Given the description of an element on the screen output the (x, y) to click on. 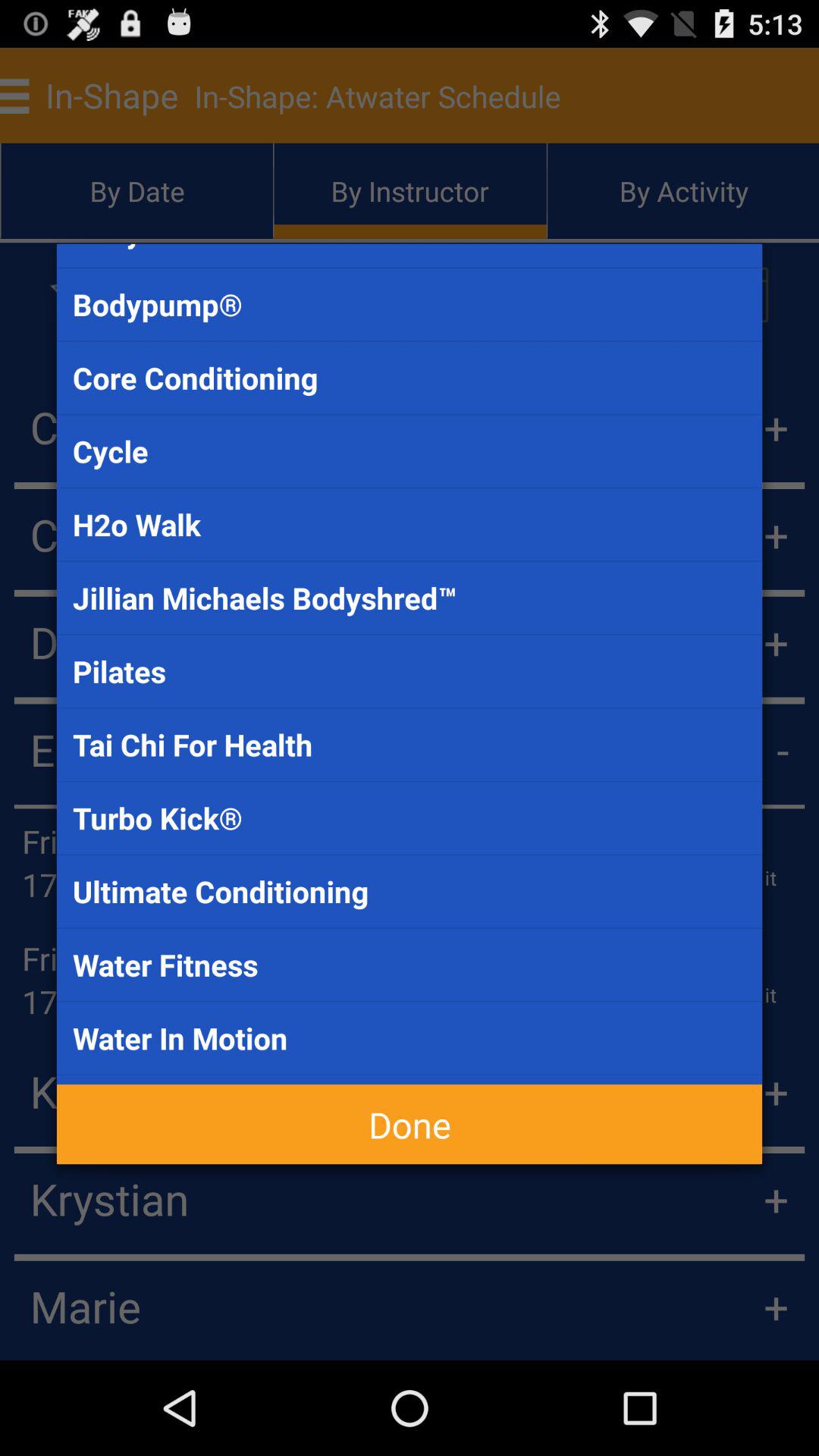
turn off the done icon (409, 1124)
